Given the description of an element on the screen output the (x, y) to click on. 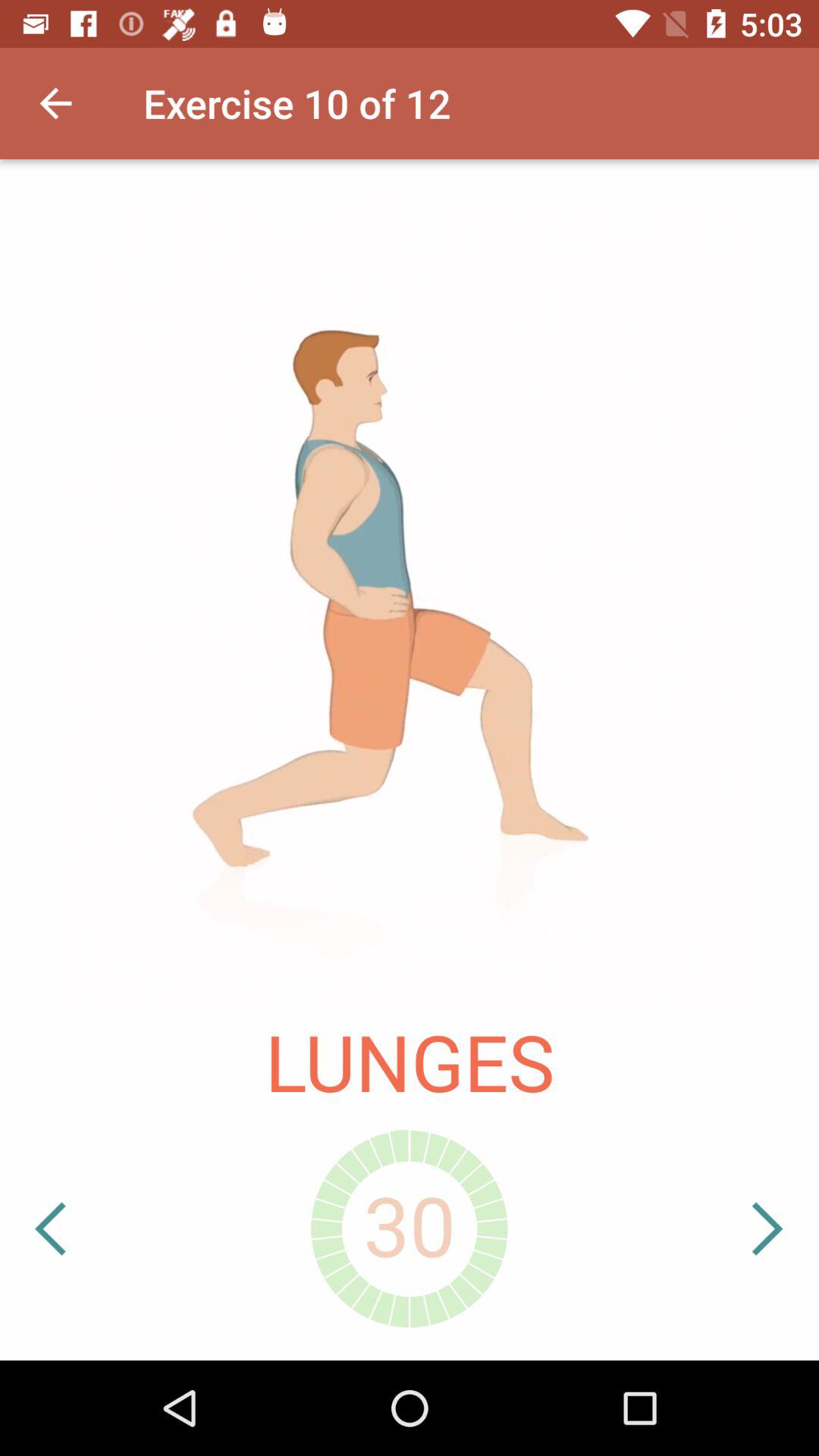
choose item at the bottom right corner (721, 1228)
